Given the description of an element on the screen output the (x, y) to click on. 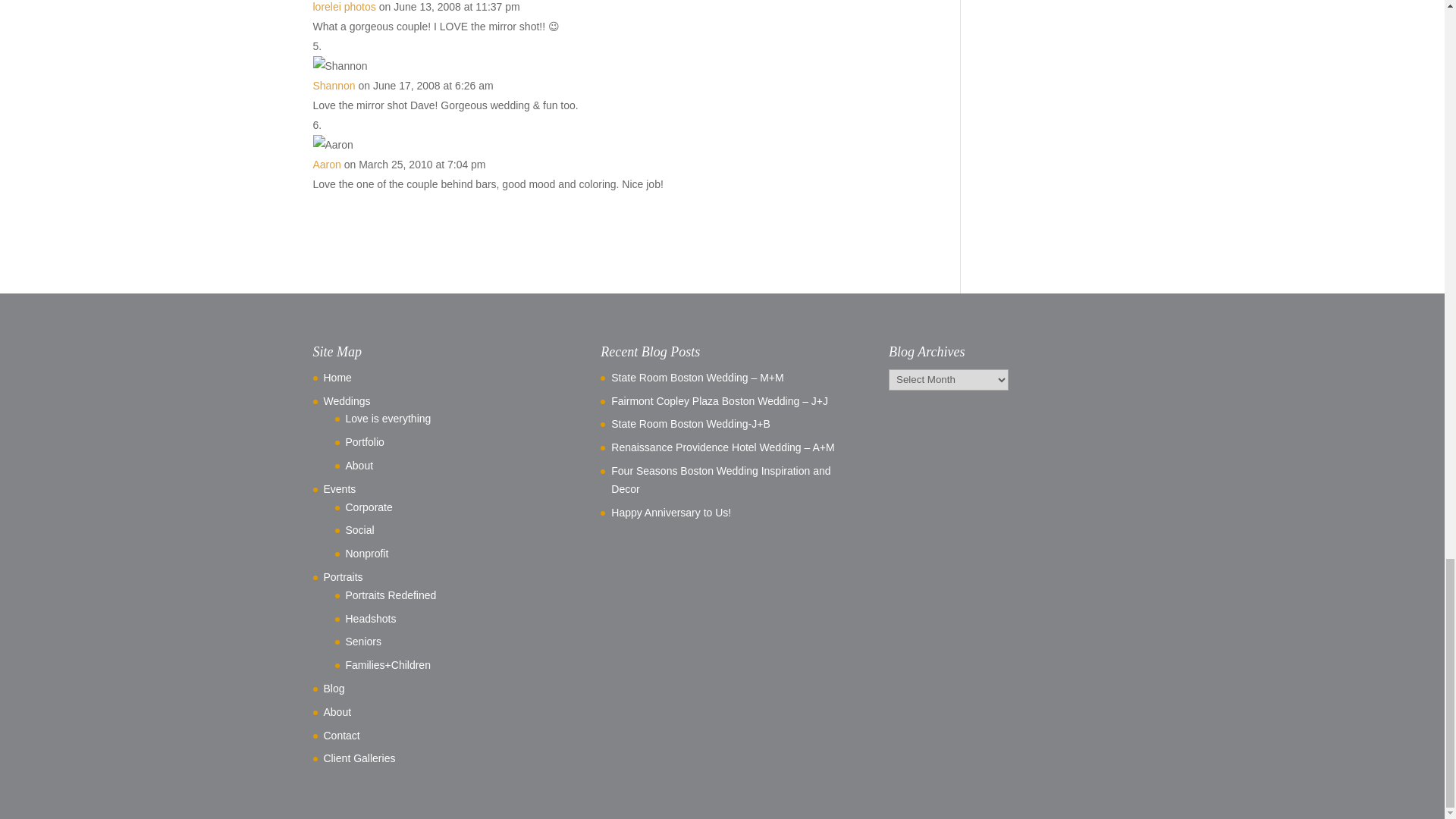
lorelei photos (344, 6)
Shannon (334, 85)
Aaron (326, 164)
Home (336, 377)
Weddings (346, 400)
